Given the description of an element on the screen output the (x, y) to click on. 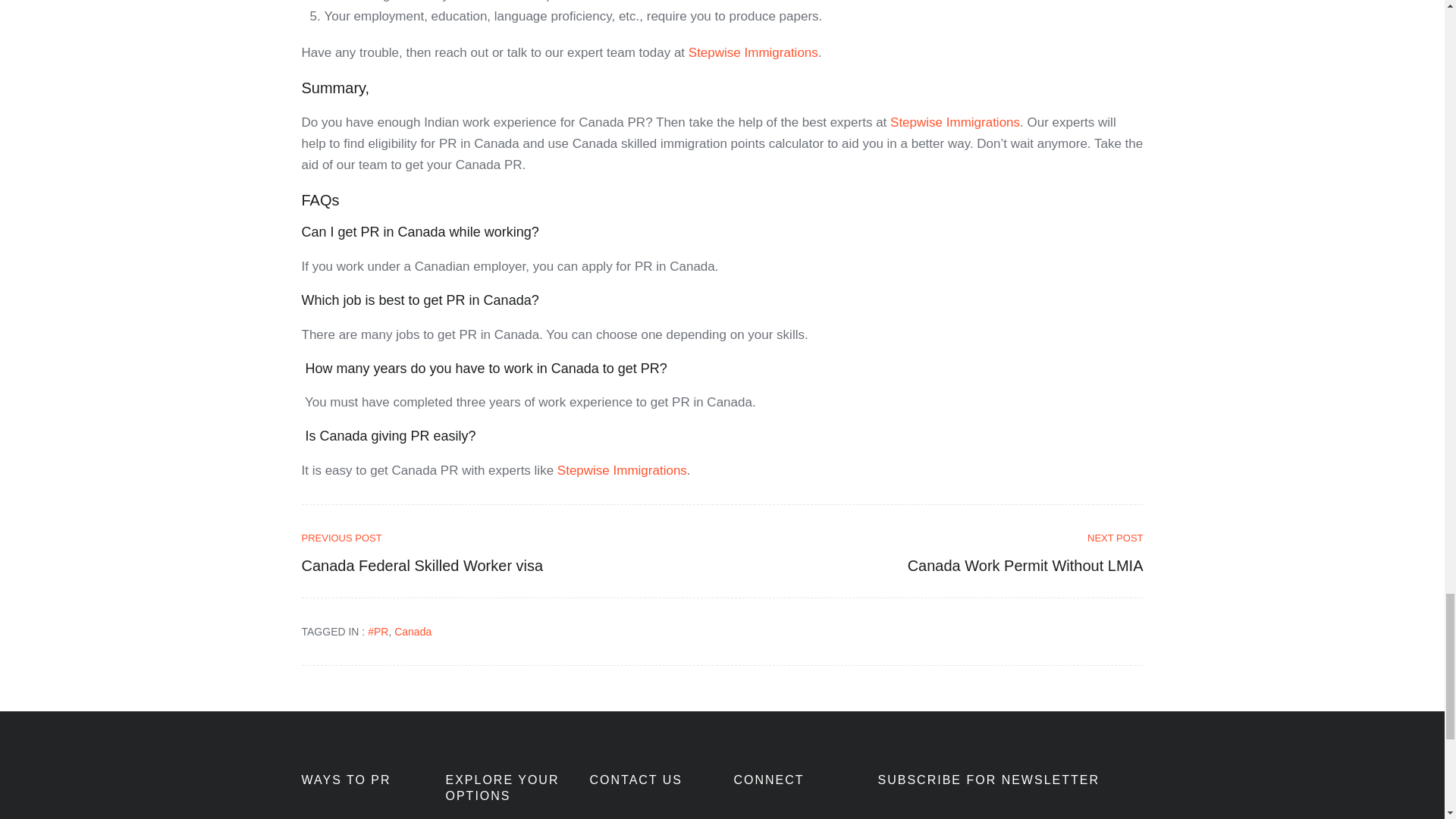
Canada Federal Skilled Worker visa (506, 537)
